Given the description of an element on the screen output the (x, y) to click on. 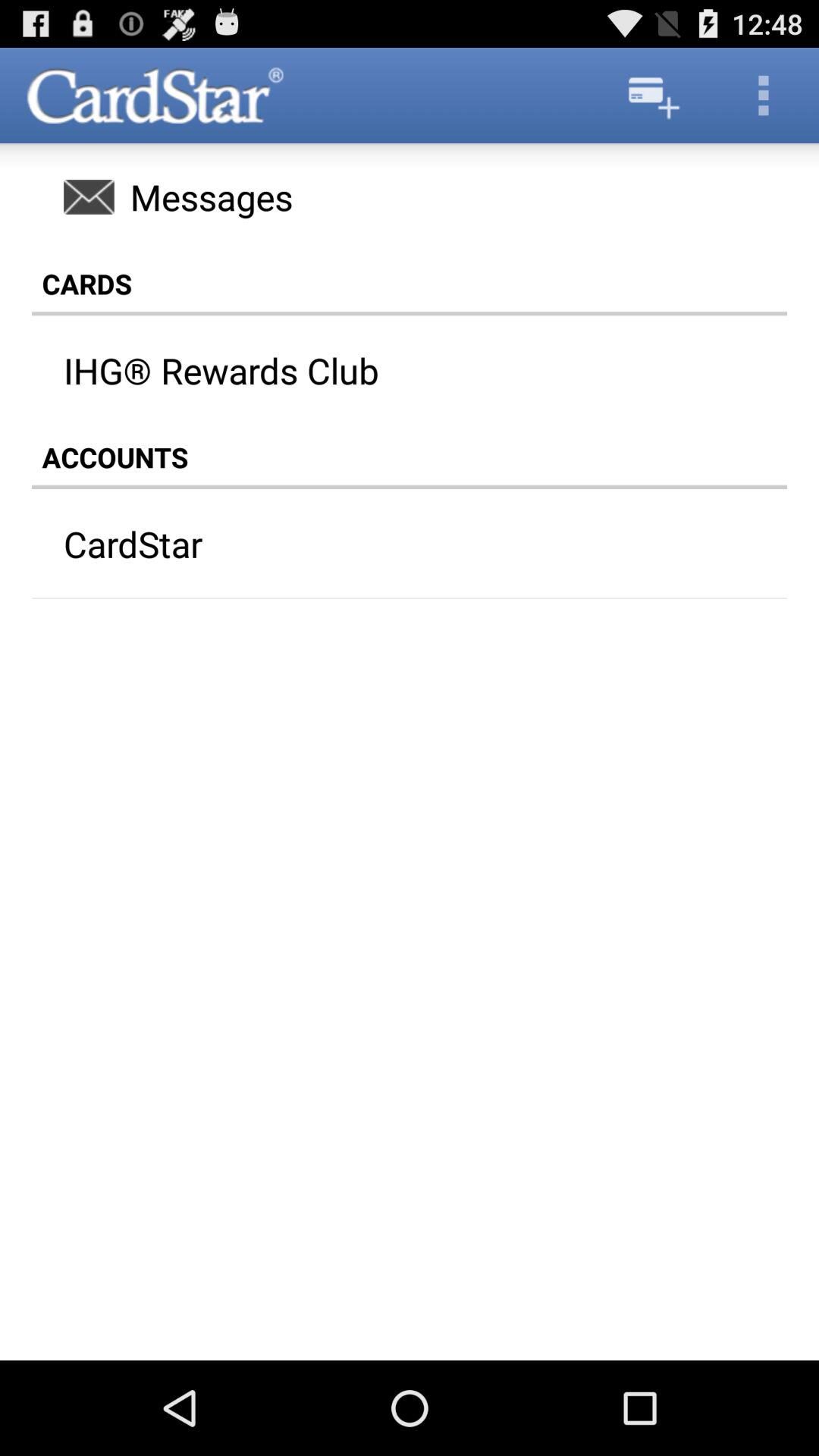
choose the cards icon (409, 283)
